Given the description of an element on the screen output the (x, y) to click on. 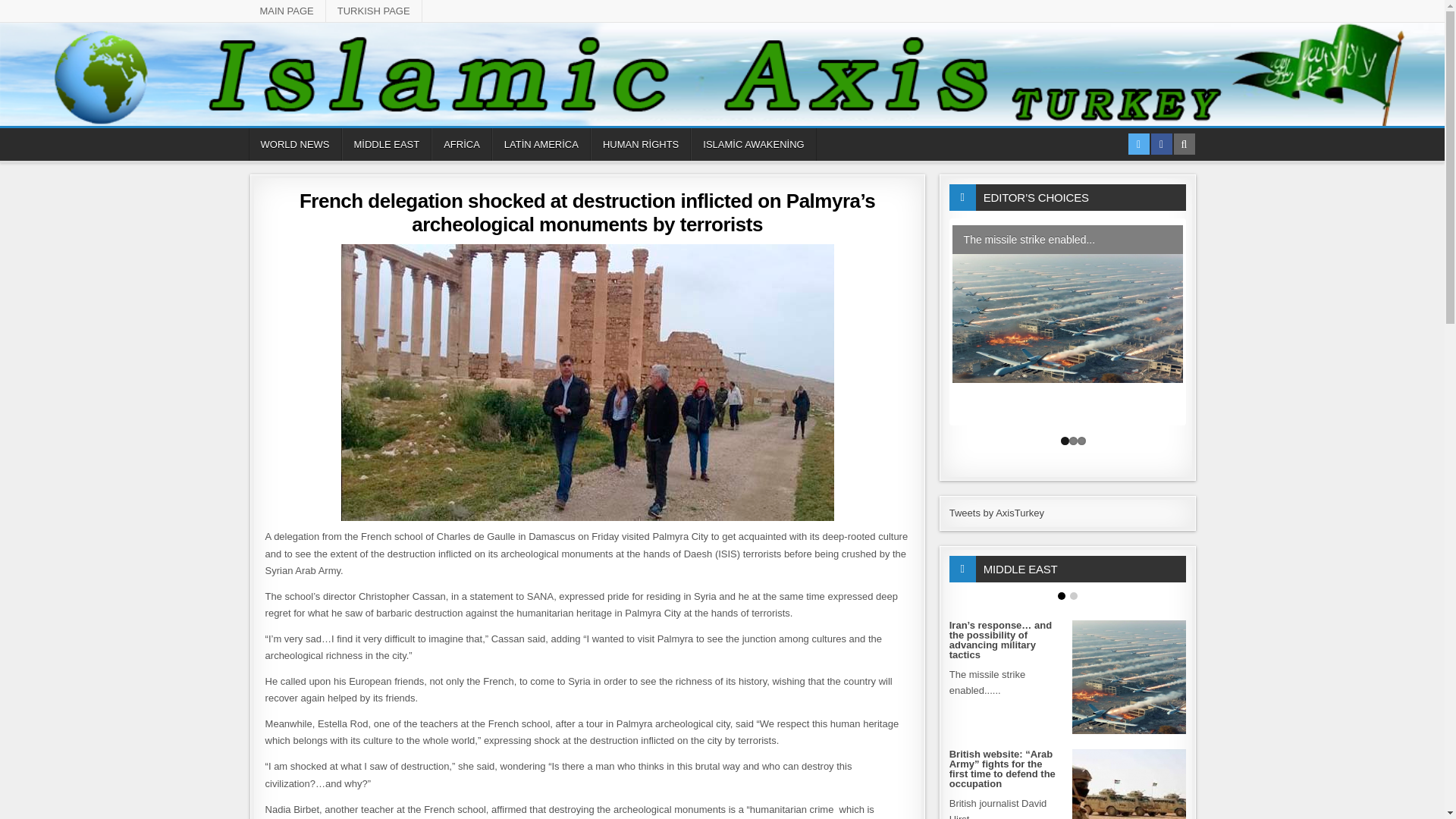
Tweets by AxisTurkey (996, 512)
2 (1072, 440)
3 (1081, 440)
The missile strike enabled... (1067, 304)
HUMAN RIGHTS (640, 143)
LATIN AMERICA (541, 143)
TURKISH PAGE (374, 11)
1 (1064, 440)
MIDDLE EAST (385, 143)
AFRICA (461, 143)
ISLAMIC AWAKENING (752, 143)
WORLD NEWS (295, 143)
MAIN PAGE (287, 11)
